Given the description of an element on the screen output the (x, y) to click on. 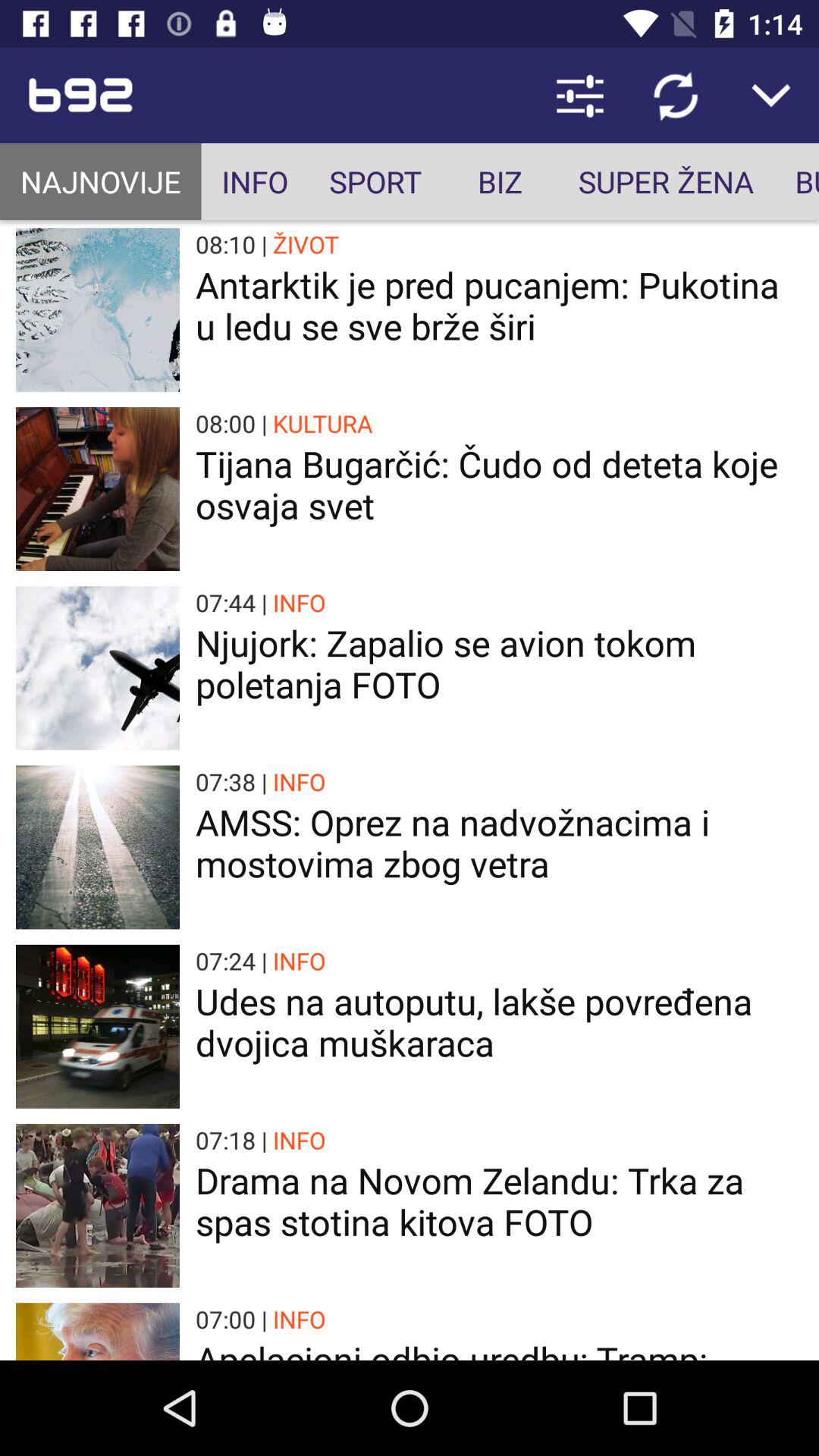
swipe to drama na novom item (499, 1201)
